Given the description of an element on the screen output the (x, y) to click on. 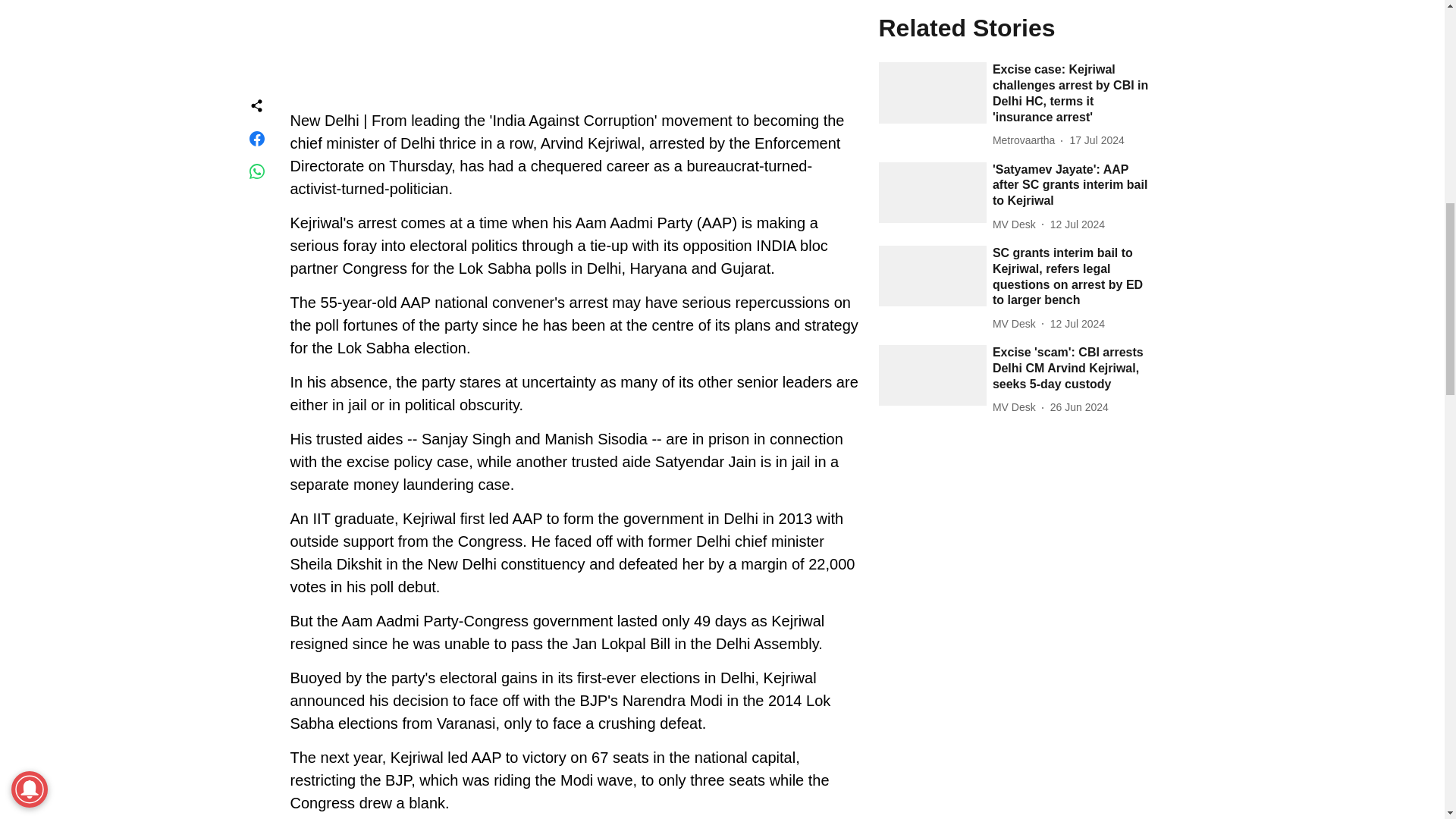
2024-07-12 06:08 (1077, 224)
2024-06-26 05:33 (1078, 407)
2024-07-17 13:21 (1096, 140)
2024-07-12 05:58 (1077, 324)
